Given the description of an element on the screen output the (x, y) to click on. 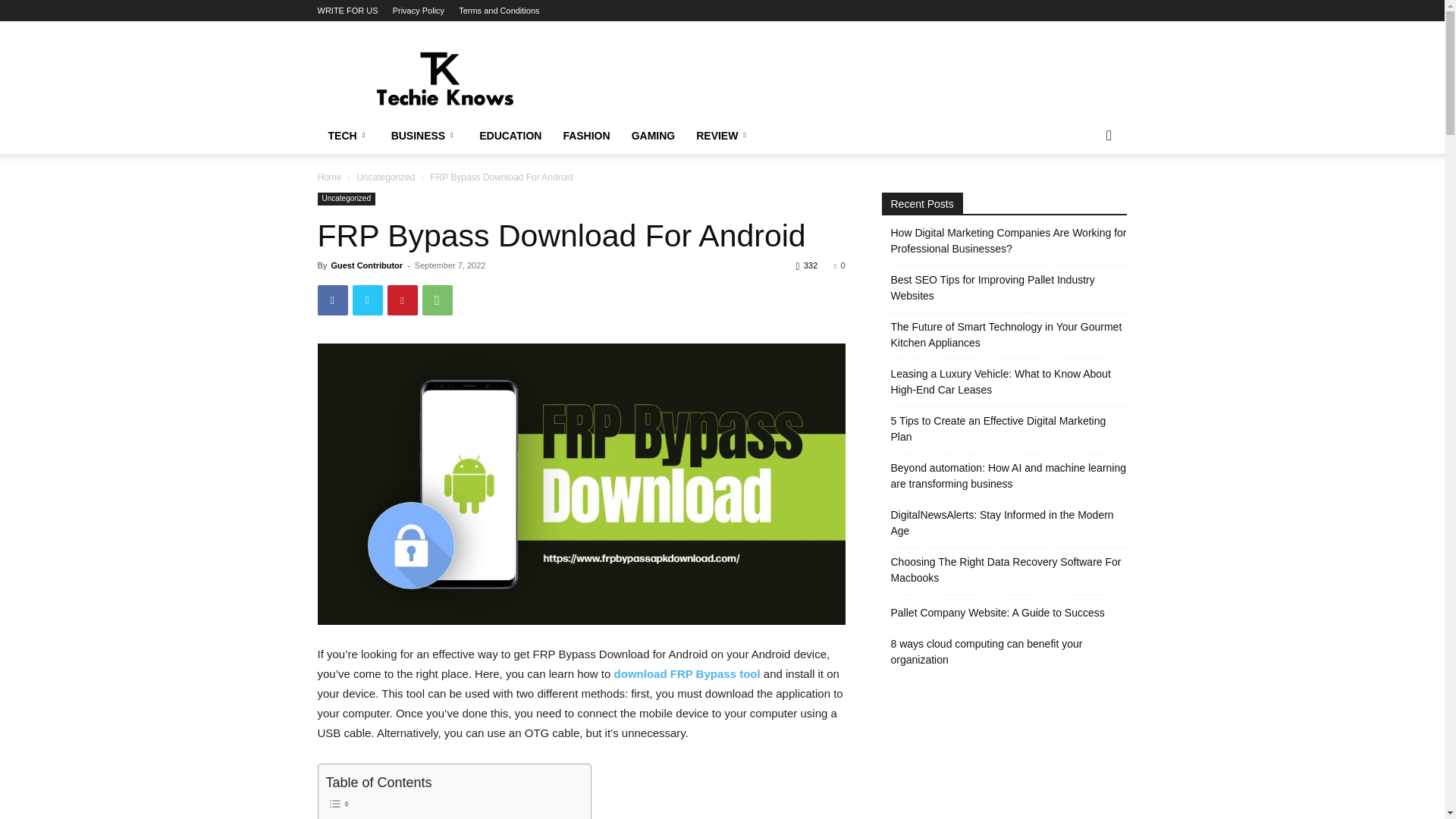
BUSINESS (424, 135)
GAMING (653, 135)
TECH (348, 135)
FASHION (585, 135)
Home (328, 176)
Search (1085, 196)
View all posts in Uncategorized (385, 176)
REVIEW (723, 135)
EDUCATION (509, 135)
Privacy Policy (418, 10)
WhatsApp (436, 300)
WRITE FOR US (347, 10)
Pinterest (401, 300)
What is FRP Bypass APK? (395, 816)
